Given the description of an element on the screen output the (x, y) to click on. 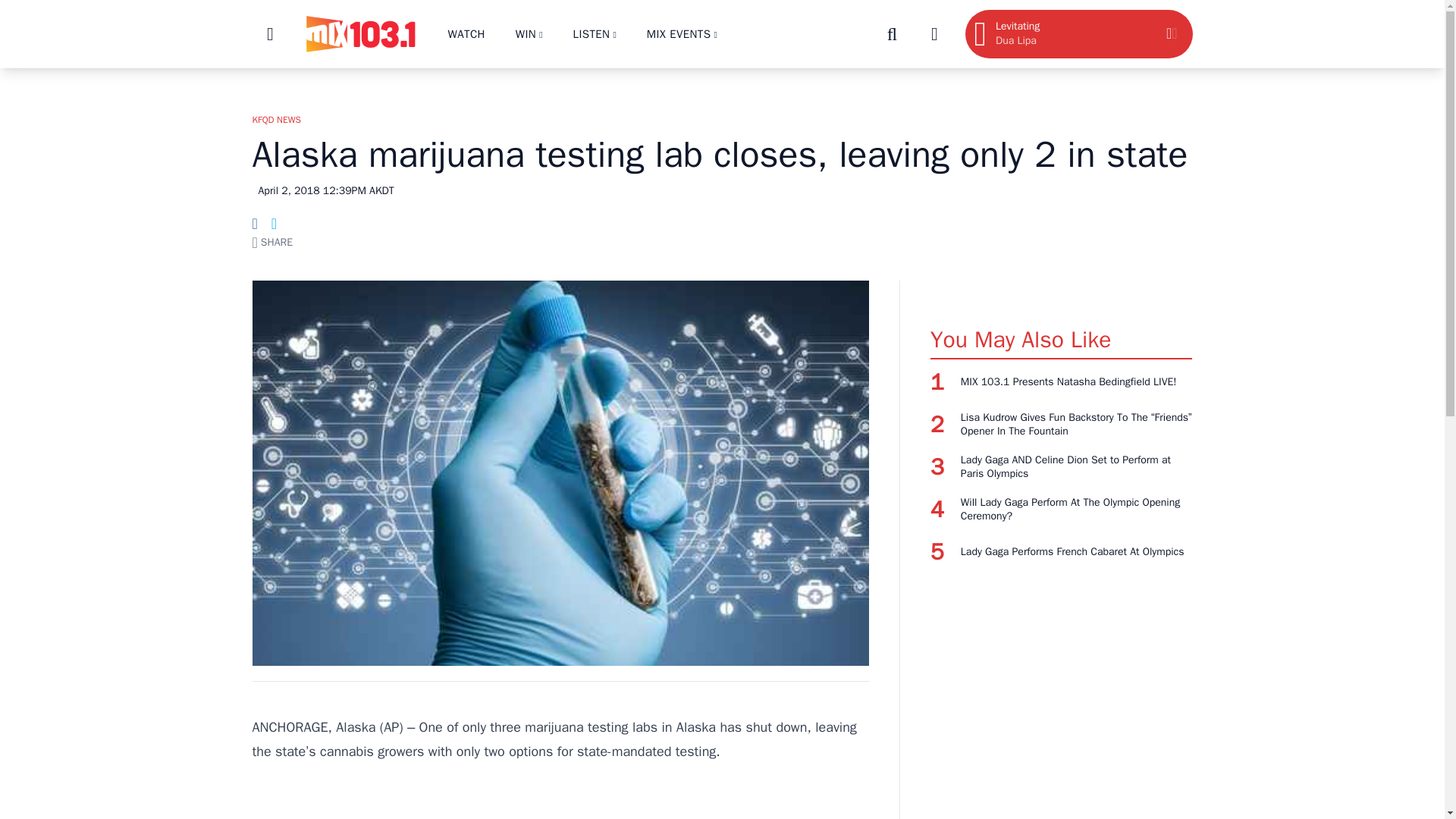
Mix 103.1 (359, 34)
